Given the description of an element on the screen output the (x, y) to click on. 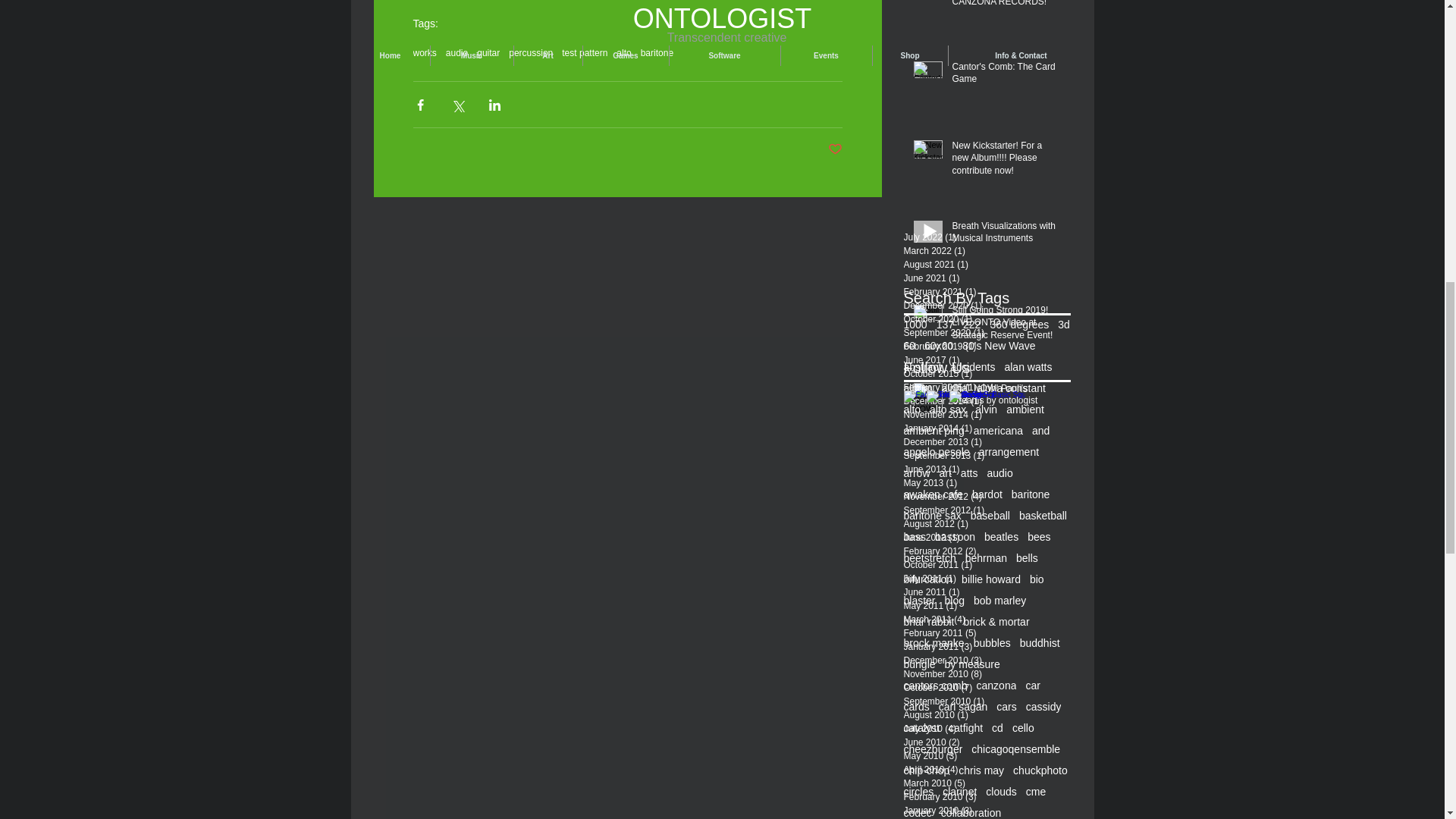
audio (456, 52)
percussion (530, 52)
test pattern (584, 52)
guitar (488, 52)
works (423, 52)
baritone (656, 52)
Post not marked as liked (835, 149)
alto (622, 52)
